Given the description of an element on the screen output the (x, y) to click on. 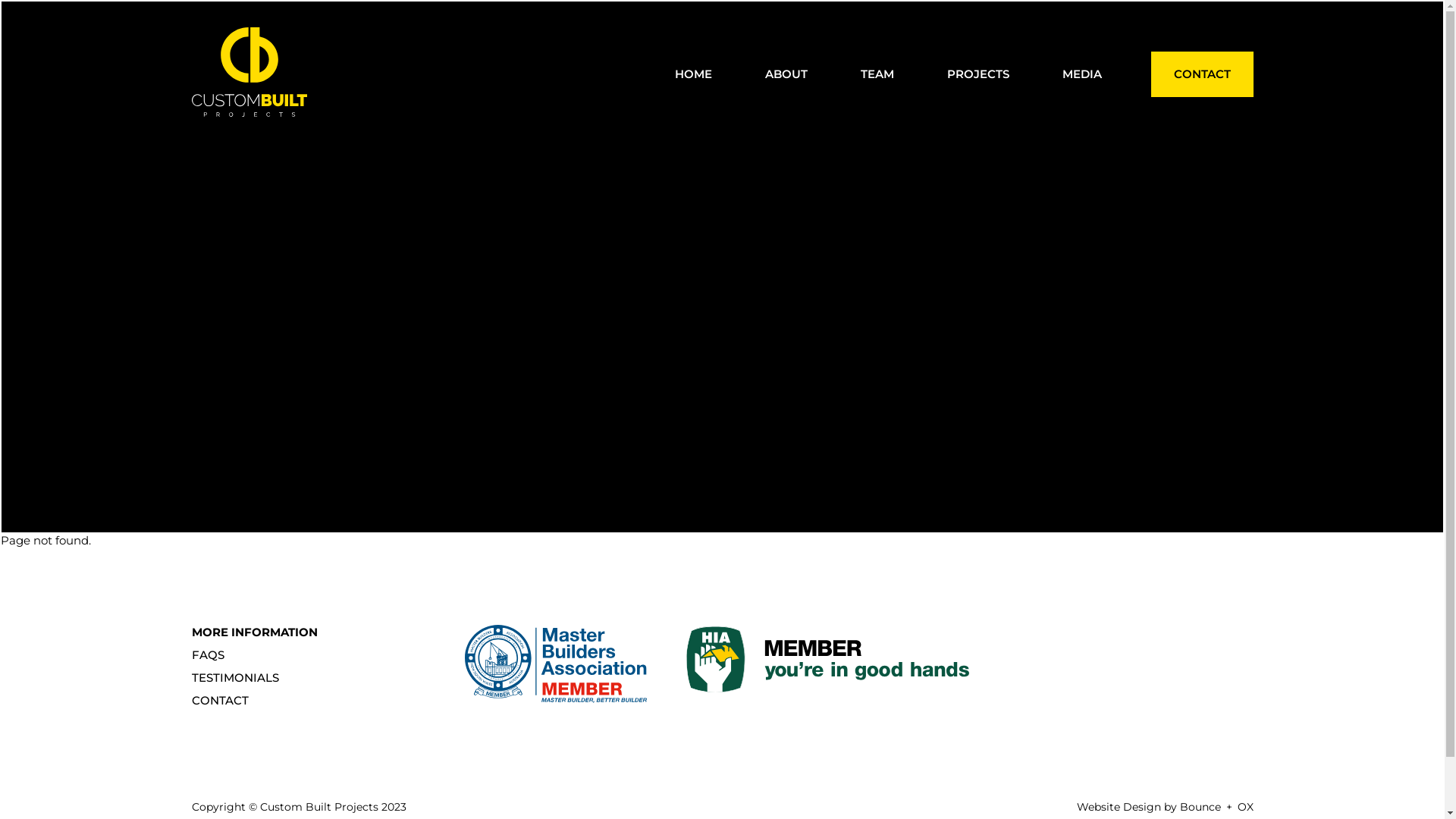
Website Design by Bounce Element type: text (1149, 806)
TESTIMONIALS Element type: text (234, 677)
Skip to content Element type: text (0, 0)
OX Element type: text (1245, 806)
PROJECTS Element type: text (977, 71)
FAQS Element type: text (207, 654)
ABOUT Element type: text (785, 71)
MEDIA Element type: text (1081, 71)
HOME Element type: text (693, 71)
TEAM Element type: text (876, 71)
CONTACT Element type: text (219, 700)
CONTACT Element type: text (1202, 74)
